Given the description of an element on the screen output the (x, y) to click on. 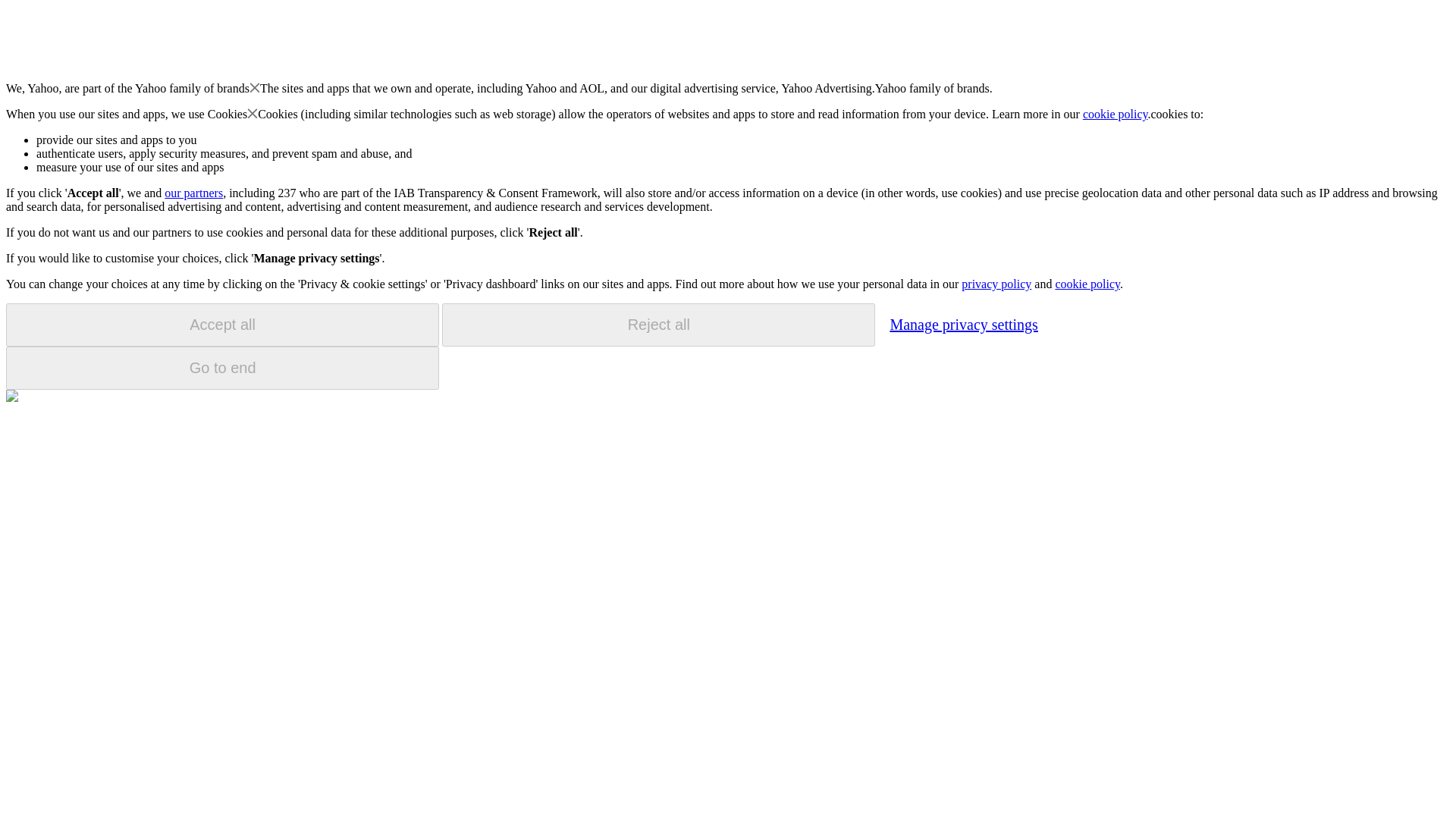
cookie policy (1115, 113)
Manage privacy settings (963, 323)
Accept all (222, 324)
Reject all (658, 324)
privacy policy (995, 283)
cookie policy (1086, 283)
Go to end (222, 367)
our partners (193, 192)
